Given the description of an element on the screen output the (x, y) to click on. 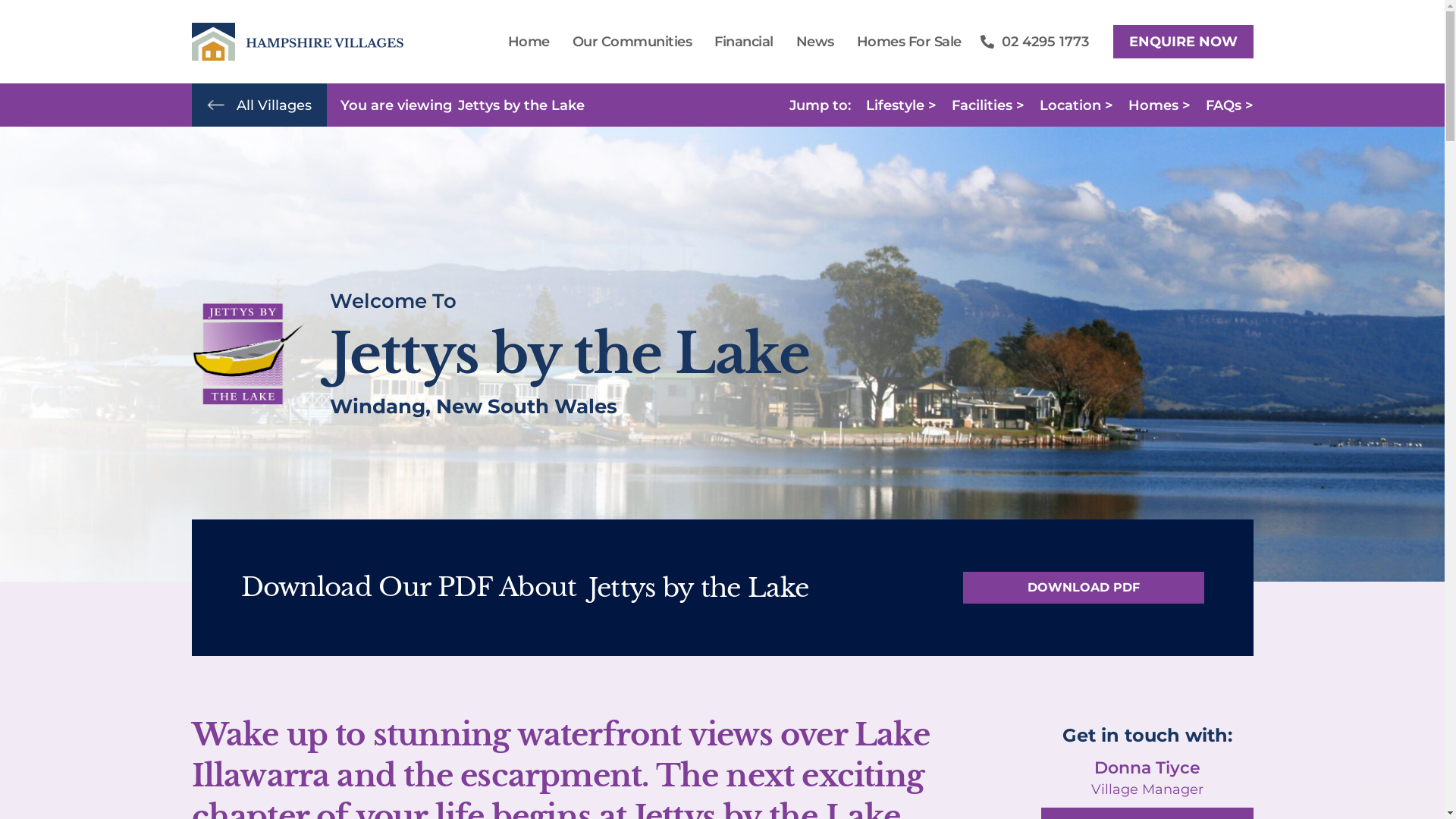
All Villages Element type: text (273, 105)
Location > Element type: text (1075, 104)
02 4295 1773 Element type: text (1033, 41)
FAQs > Element type: text (1229, 104)
Our Communities Element type: text (632, 41)
Facilities > Element type: text (986, 104)
Homes > Element type: text (1159, 104)
Homes For Sale Element type: text (908, 41)
Financial Element type: text (743, 41)
Skip to content Element type: text (11, 31)
ENQUIRE NOW Element type: text (1183, 41)
Lifestyle > Element type: text (901, 104)
News Element type: text (814, 41)
DOWNLOAD PDF Element type: text (1083, 587)
Home Element type: text (527, 41)
